Given the description of an element on the screen output the (x, y) to click on. 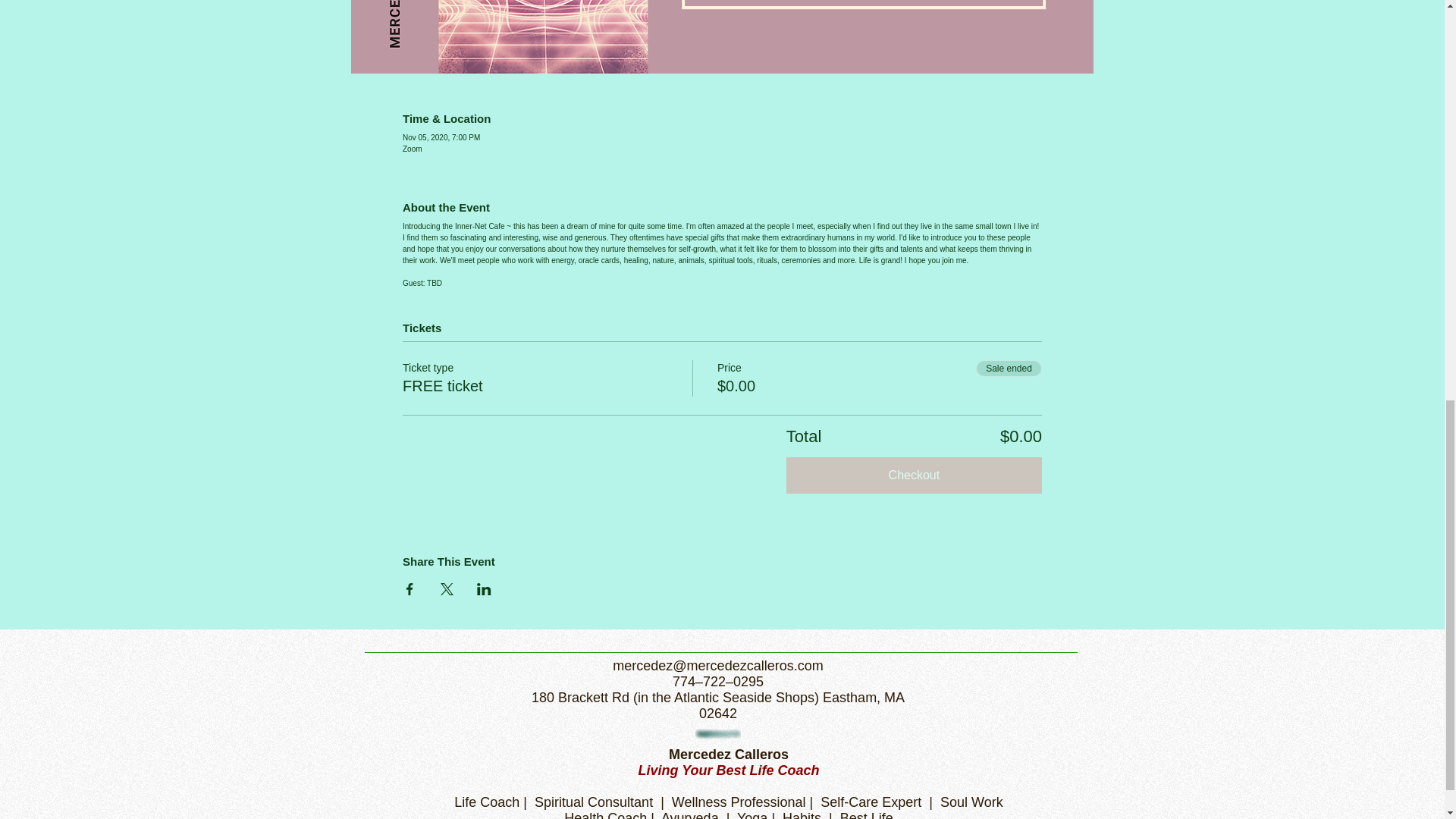
Checkout (914, 475)
